Given the description of an element on the screen output the (x, y) to click on. 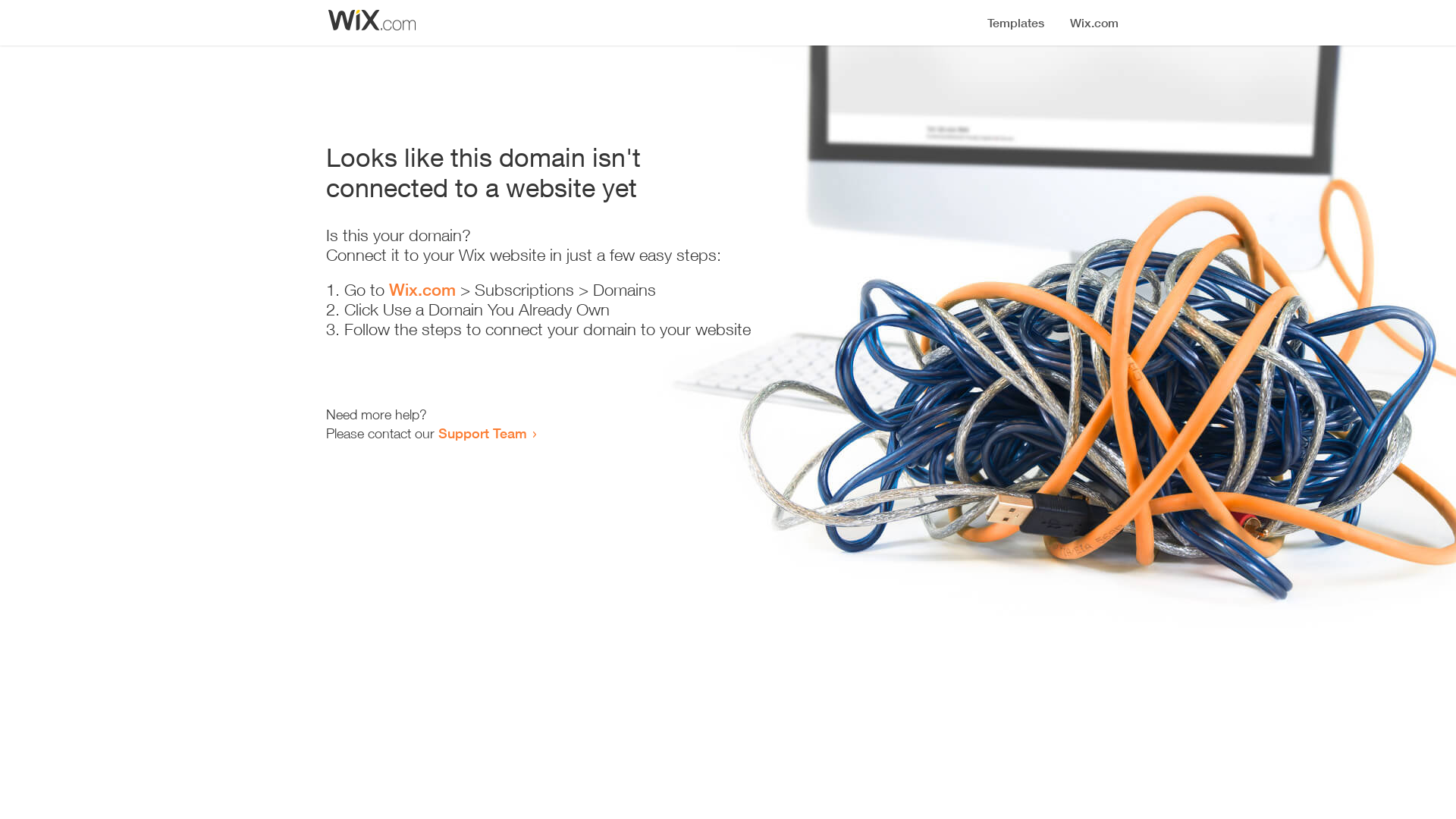
Wix.com Element type: text (422, 289)
Support Team Element type: text (482, 432)
